Given the description of an element on the screen output the (x, y) to click on. 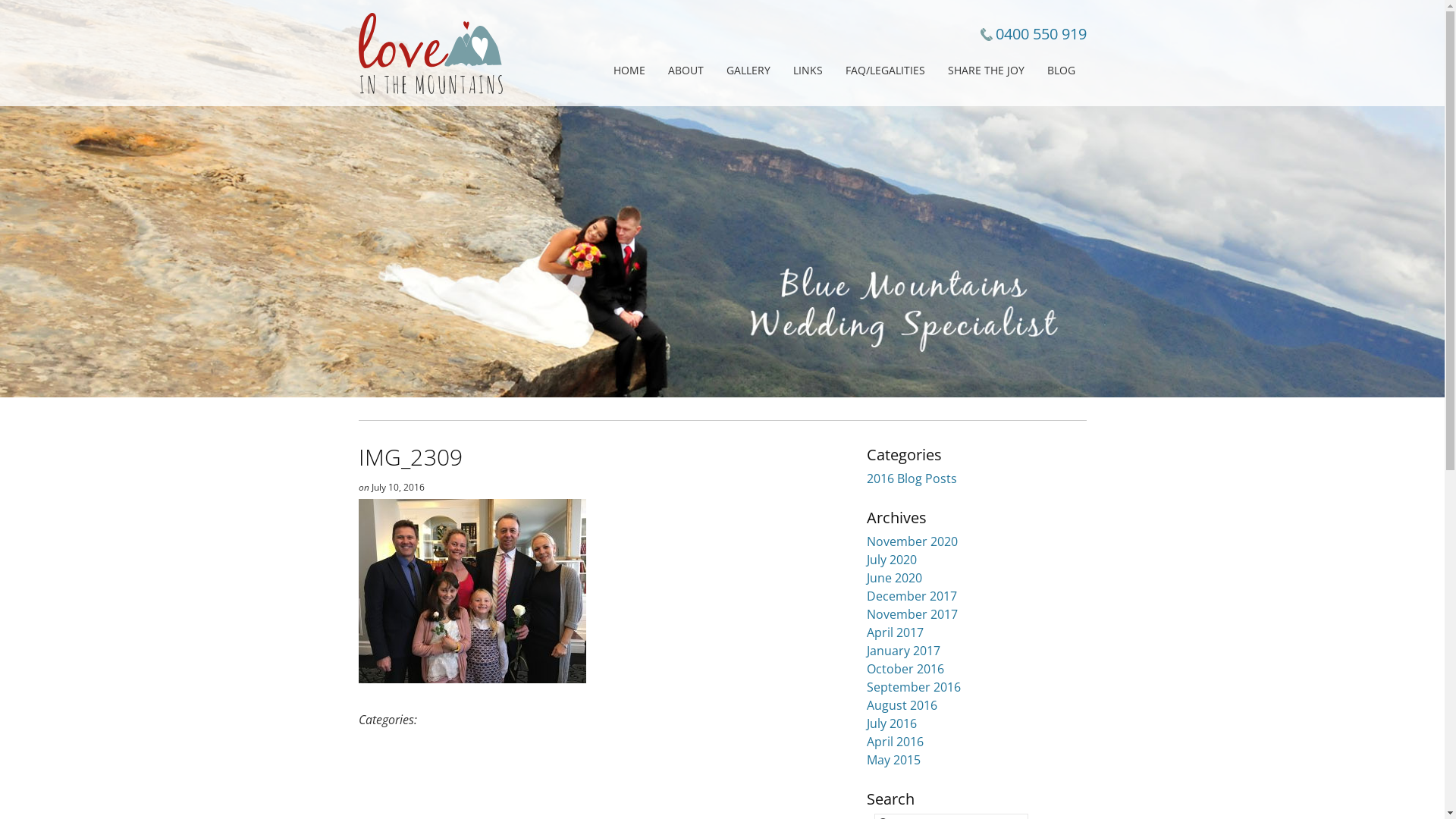
FAQ/LEGALITIES Element type: text (885, 70)
November 2020 Element type: text (911, 541)
LINKS Element type: text (807, 70)
September 2016 Element type: text (913, 686)
0400 550 919 Element type: text (1039, 33)
BLOG Element type: text (1060, 70)
August 2016 Element type: text (901, 704)
July 2016 Element type: text (891, 723)
ABOUT Element type: text (685, 70)
October 2016 Element type: text (904, 668)
Love In The Mountains Element type: text (429, 52)
December 2017 Element type: text (911, 595)
SHARE THE JOY Element type: text (985, 70)
June 2020 Element type: text (893, 577)
GALLERY Element type: text (747, 70)
November 2017 Element type: text (911, 613)
HOME Element type: text (629, 70)
April 2017 Element type: text (894, 632)
May 2015 Element type: text (892, 759)
January 2017 Element type: text (902, 650)
April 2016 Element type: text (894, 741)
July 2020 Element type: text (891, 559)
2016 Blog Posts Element type: text (911, 478)
